Given the description of an element on the screen output the (x, y) to click on. 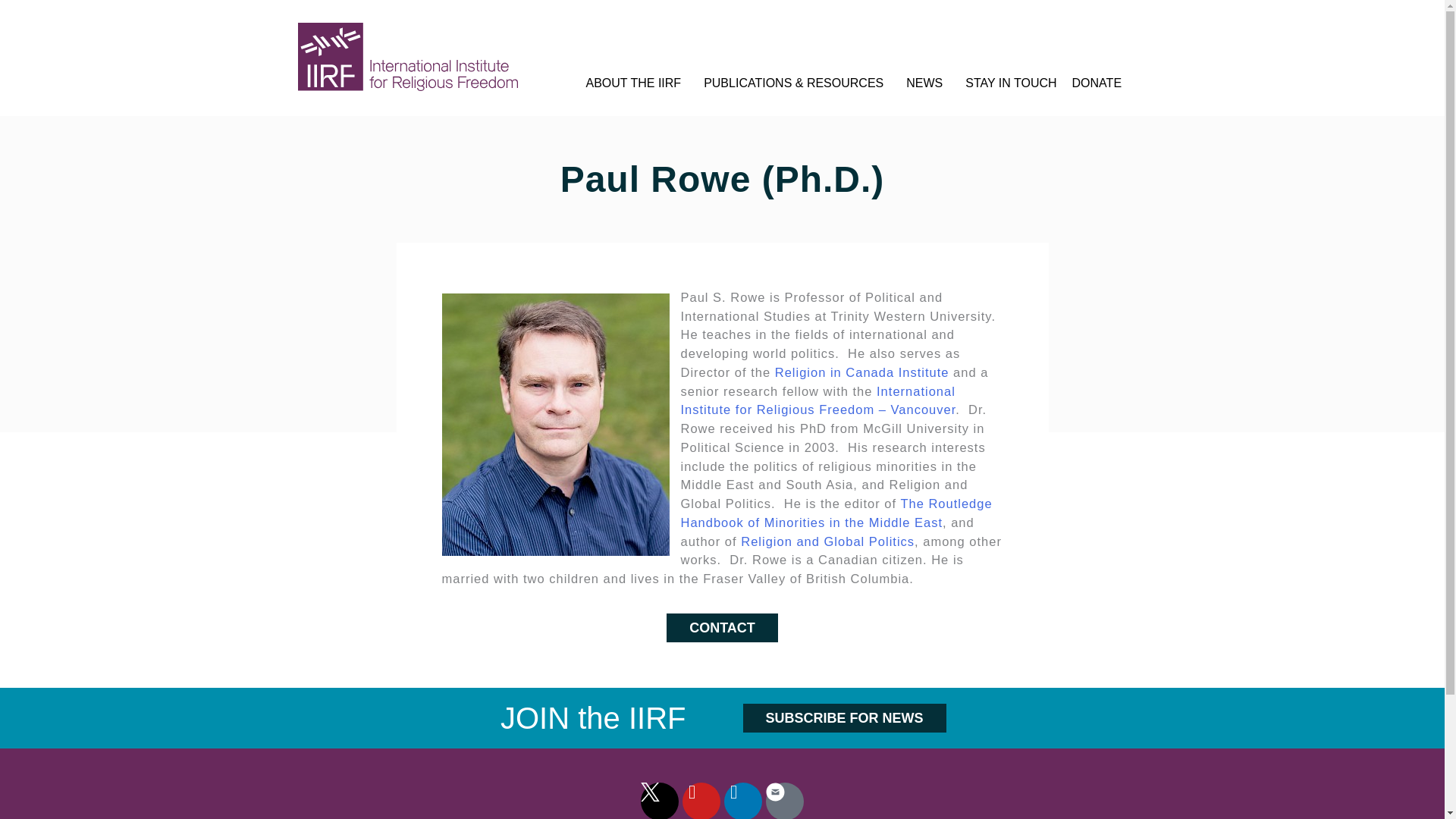
DONATE (1096, 82)
Religion in Canada Institute (861, 372)
The Routledge Handbook of Minorities in the Middle East (836, 512)
SUBSCRIBE FOR NEWS (844, 717)
Linkedin (742, 800)
Religion and Global Politics (827, 540)
NEWS (927, 82)
STAY IN TOUCH (1011, 82)
CONTACT (721, 627)
ABOUT THE IIRF (636, 82)
Youtube (701, 800)
